Given the description of an element on the screen output the (x, y) to click on. 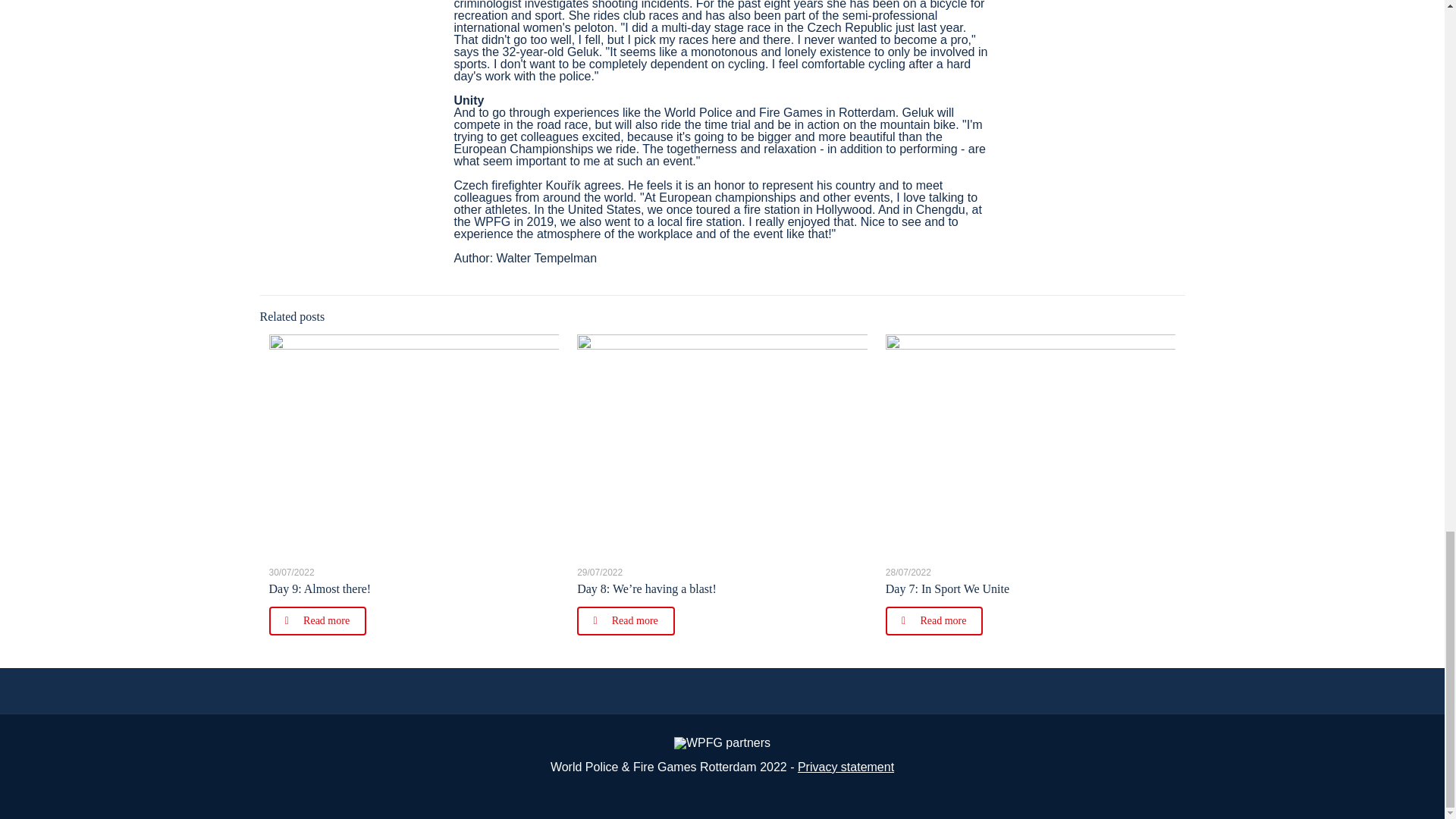
Read more (316, 620)
Read more (934, 620)
Read more (625, 620)
Privacy statement (845, 766)
Day 7: In Sport We Unite (947, 588)
Day 9: Almost there! (319, 588)
